Given the description of an element on the screen output the (x, y) to click on. 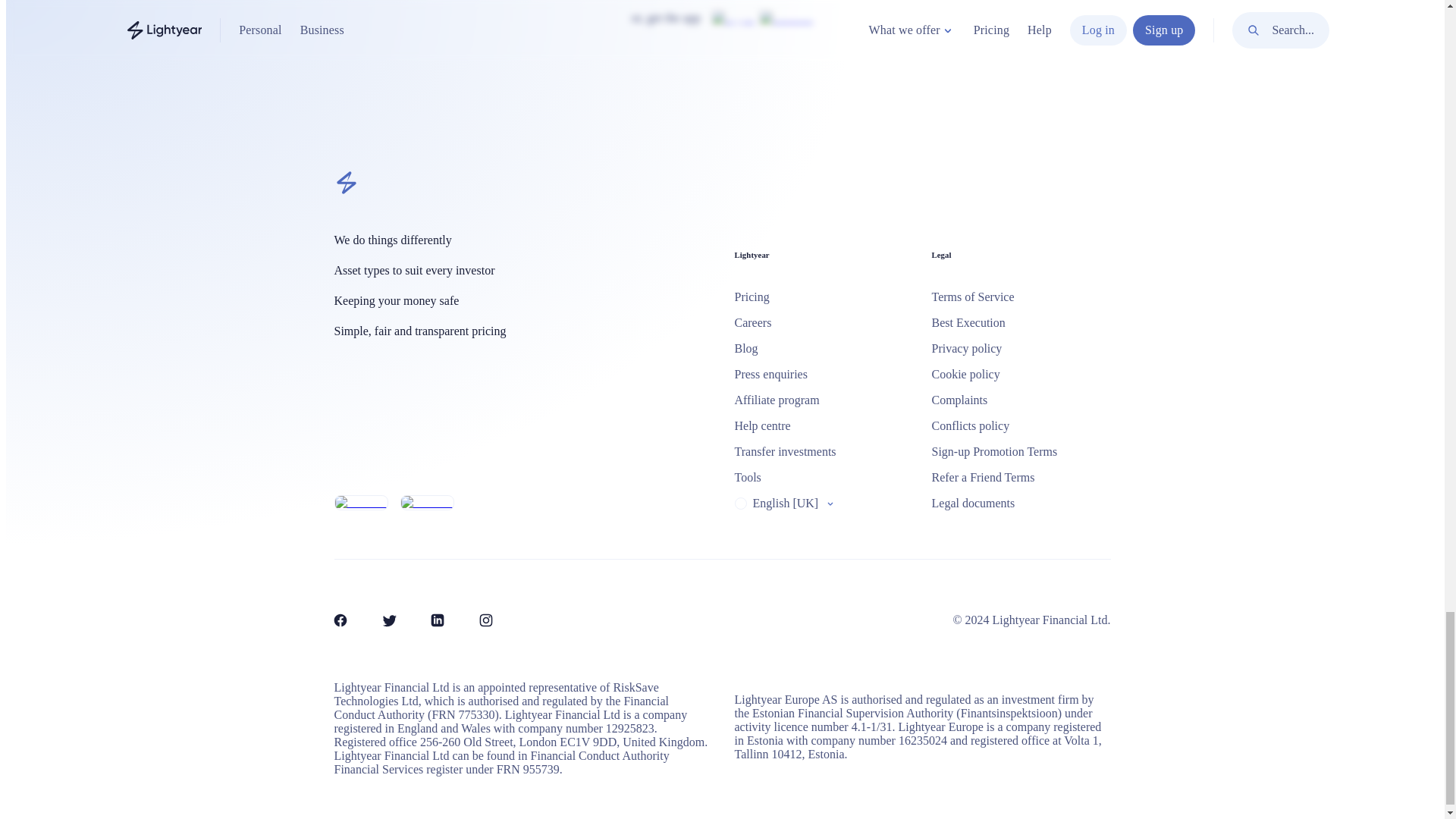
Asset types to suit every investor (521, 270)
Keeping your money safe (521, 300)
Simple, fair and transparent pricing (521, 331)
Pricing (822, 296)
We do things differently (521, 239)
